Given the description of an element on the screen output the (x, y) to click on. 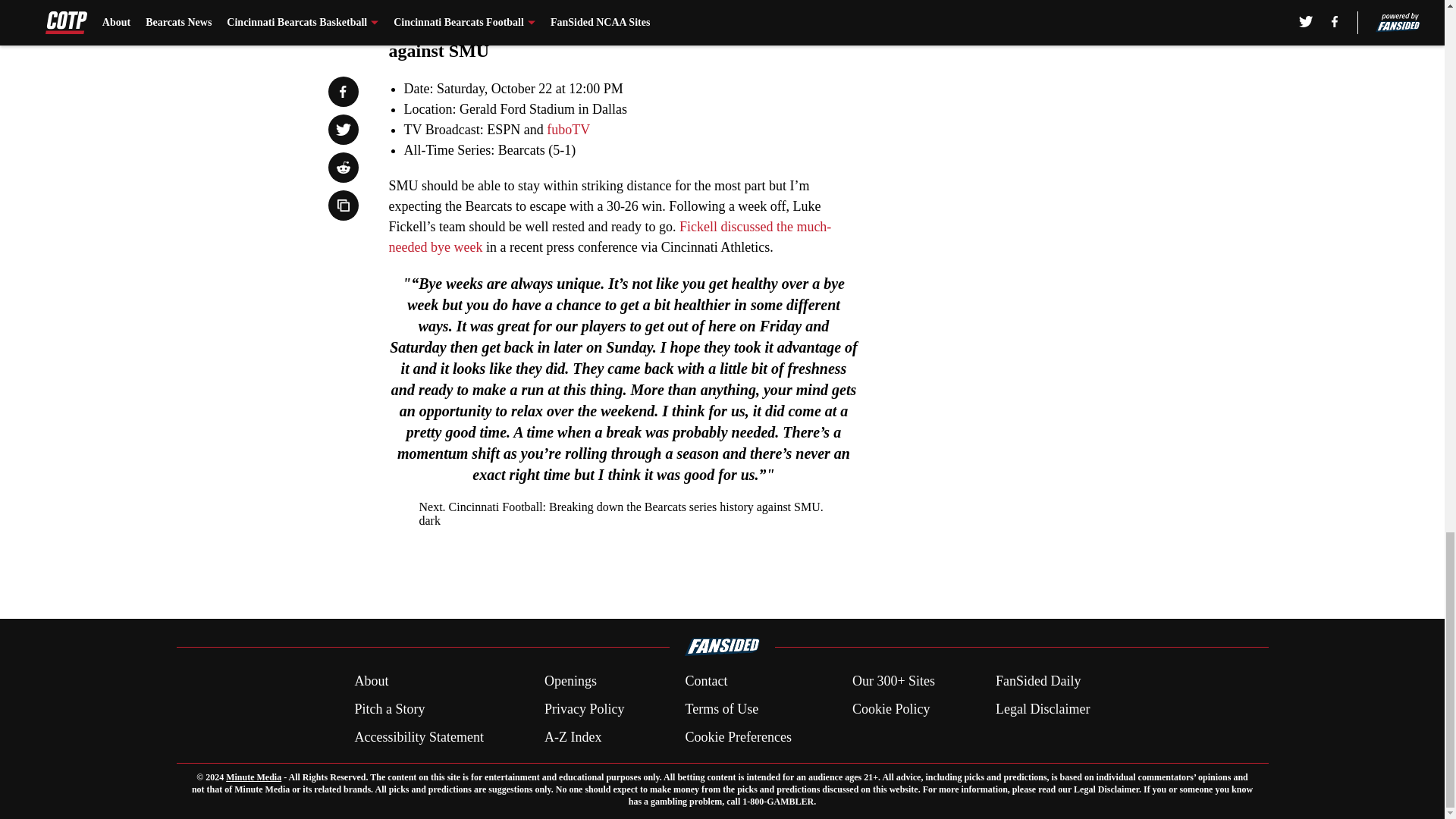
Legal Disclaimer (1042, 709)
Fickell discussed the much-needed bye week (609, 236)
A-Z Index (572, 737)
Cookie Preferences (737, 737)
Terms of Use (721, 709)
FanSided Daily (1038, 680)
Privacy Policy (584, 709)
About (370, 680)
Cookie Policy (890, 709)
fuboTV (568, 129)
